Given the description of an element on the screen output the (x, y) to click on. 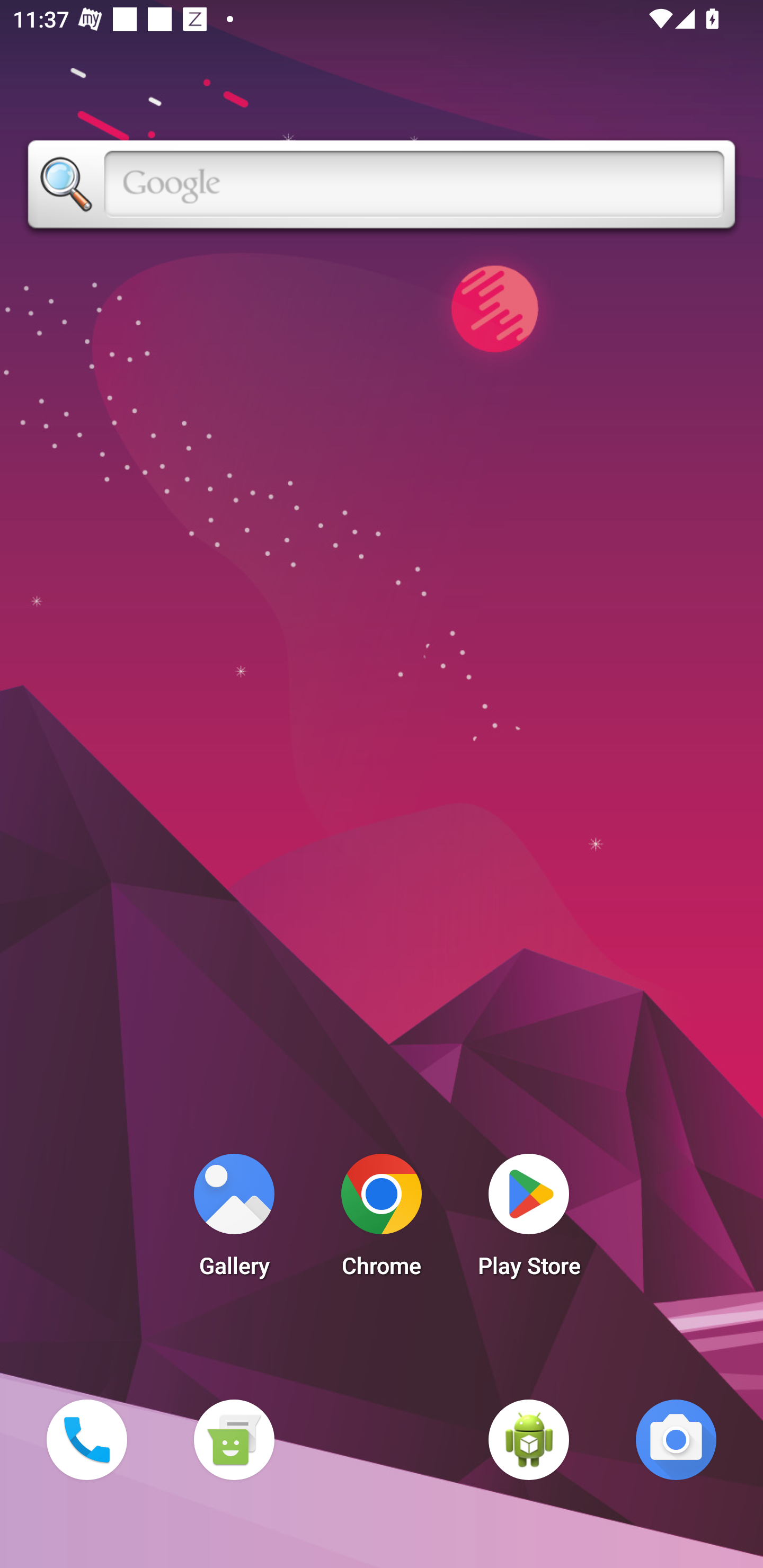
Gallery (233, 1220)
Chrome (381, 1220)
Play Store (528, 1220)
Phone (86, 1439)
Messaging (233, 1439)
WebView Browser Tester (528, 1439)
Camera (676, 1439)
